Given the description of an element on the screen output the (x, y) to click on. 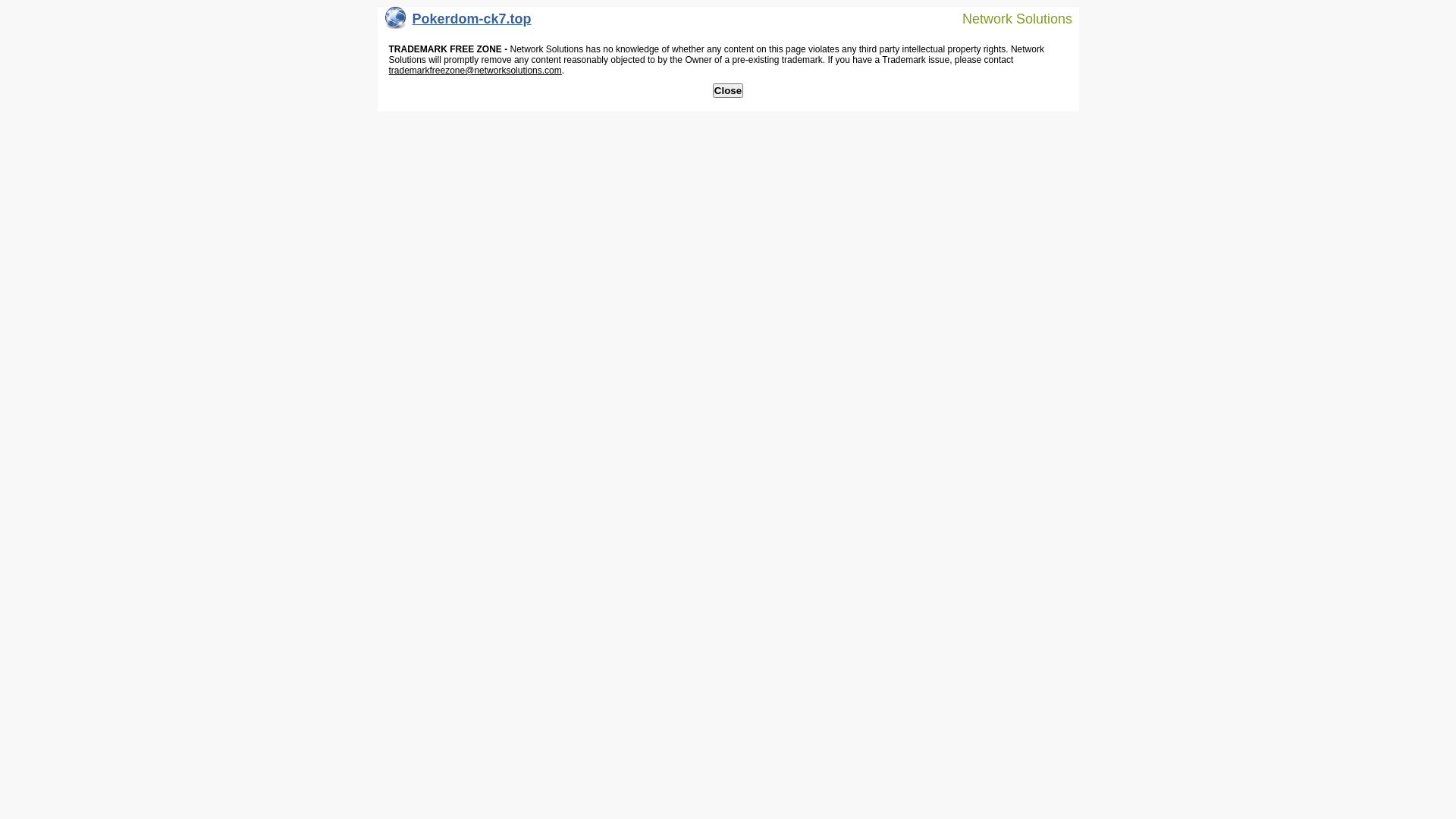
trademarkfreezone@networksolutions.com Element type: text (474, 70)
Close Element type: text (727, 90)
Network Solutions Element type: text (1007, 17)
Pokerdom-ck7.top Element type: text (458, 21)
